Given the description of an element on the screen output the (x, y) to click on. 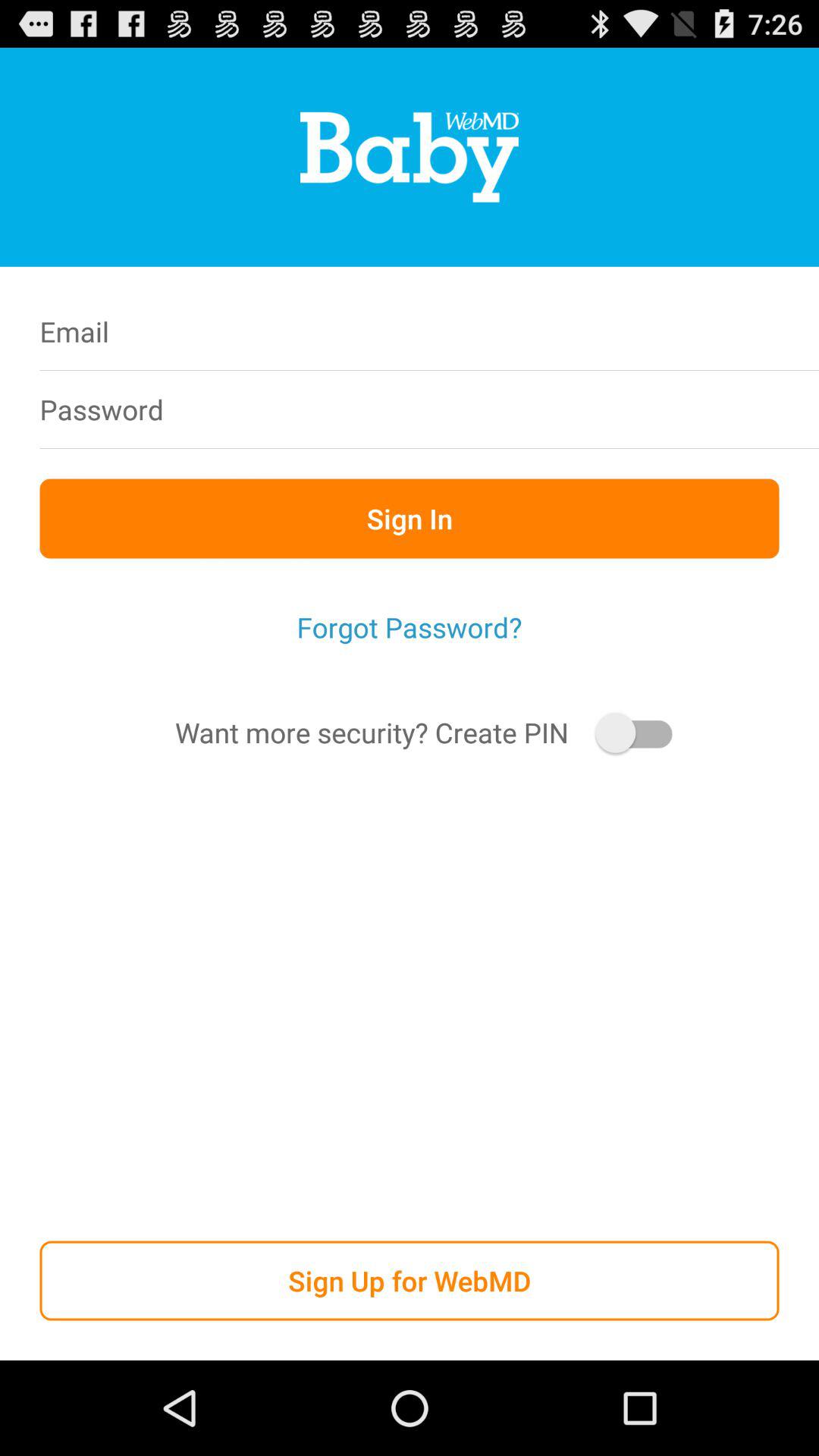
open the icon below the sign in (409, 627)
